Given the description of an element on the screen output the (x, y) to click on. 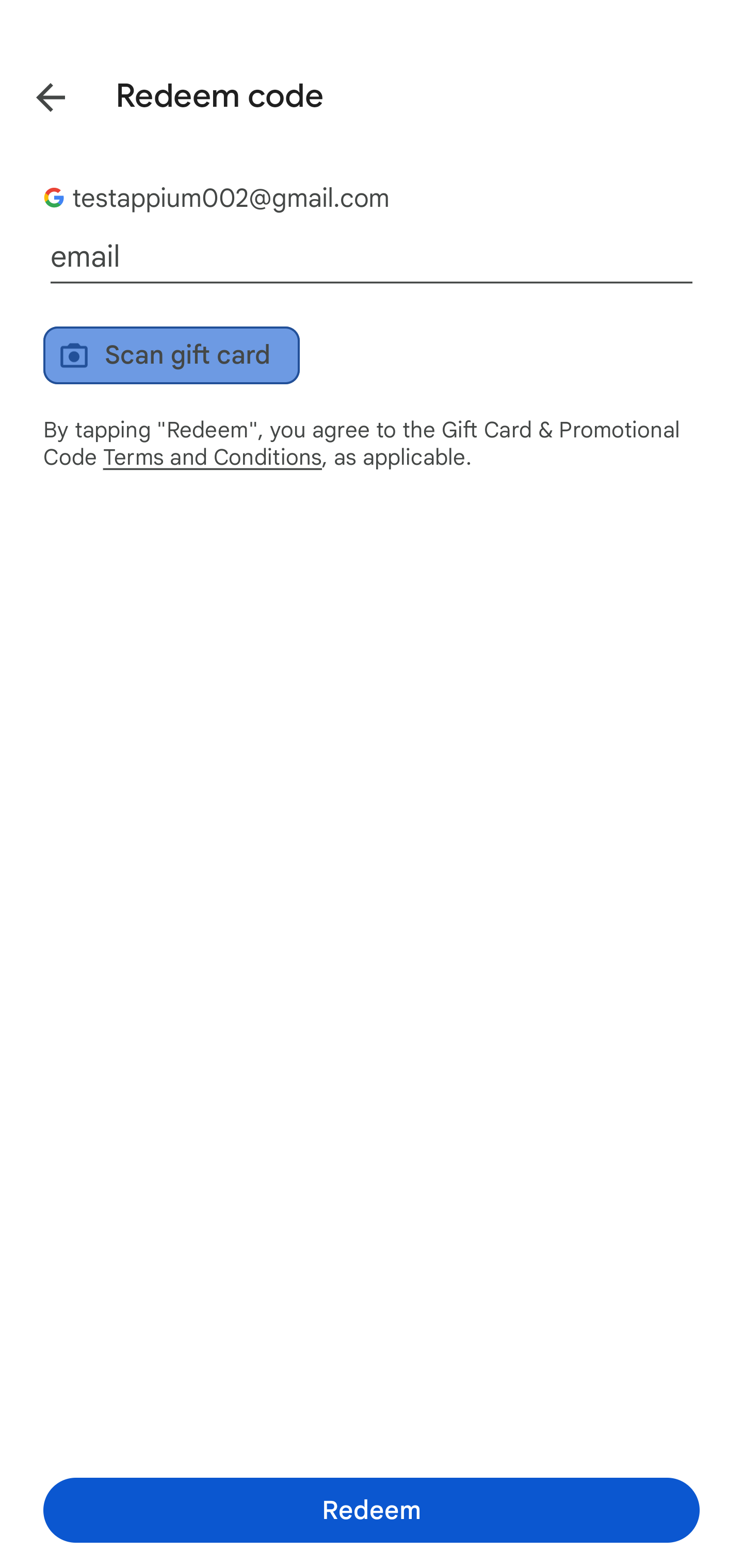
Back (36, 94)
email (371, 256)
Scan gift card (171, 355)
Redeem (371, 1509)
